Given the description of an element on the screen output the (x, y) to click on. 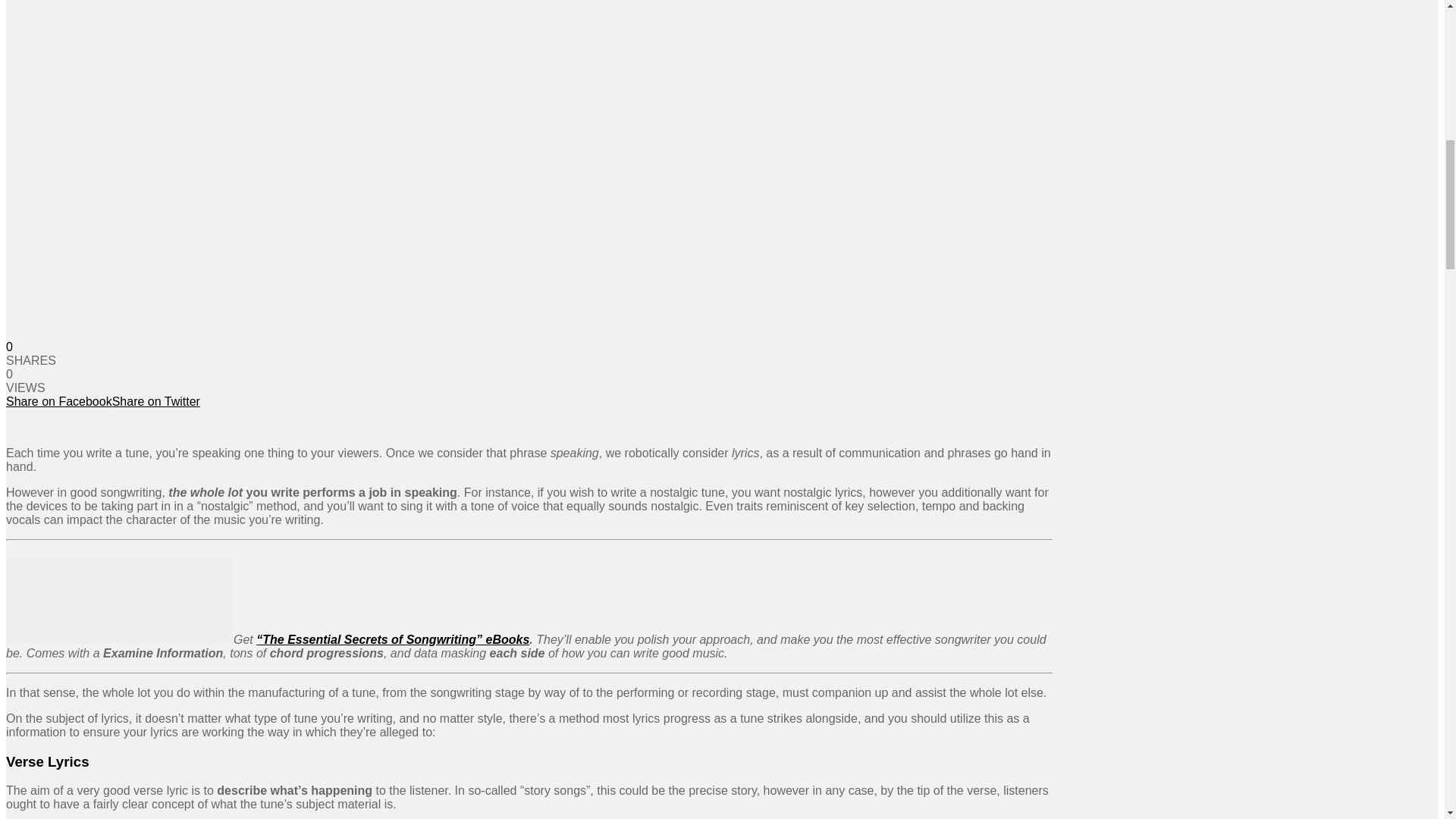
Share on Twitter (156, 400)
Share on Facebook (58, 400)
